Given the description of an element on the screen output the (x, y) to click on. 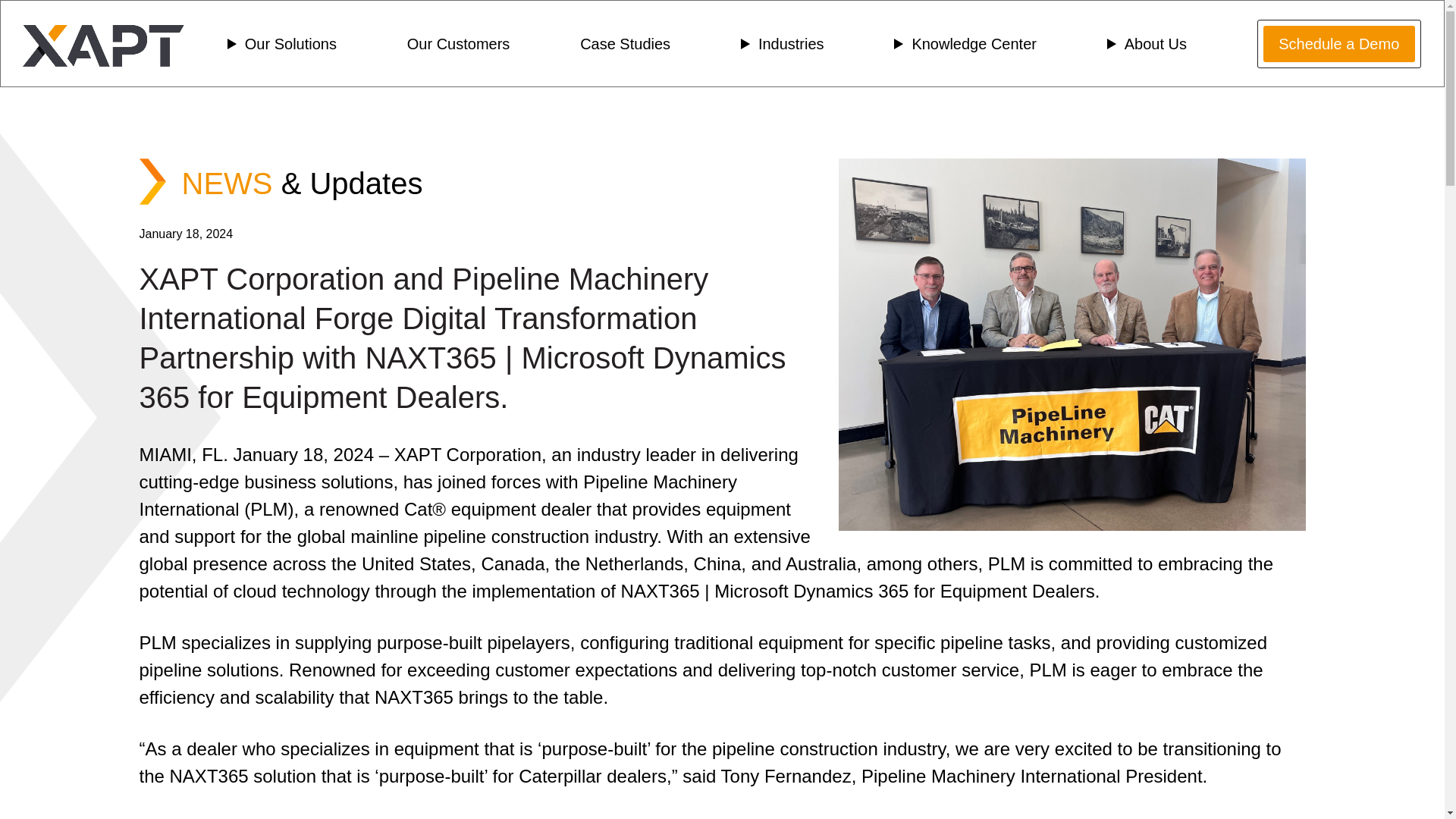
Industries (787, 44)
Our Customers (459, 44)
Case Studies (624, 44)
Our Solutions (287, 44)
